Given the description of an element on the screen output the (x, y) to click on. 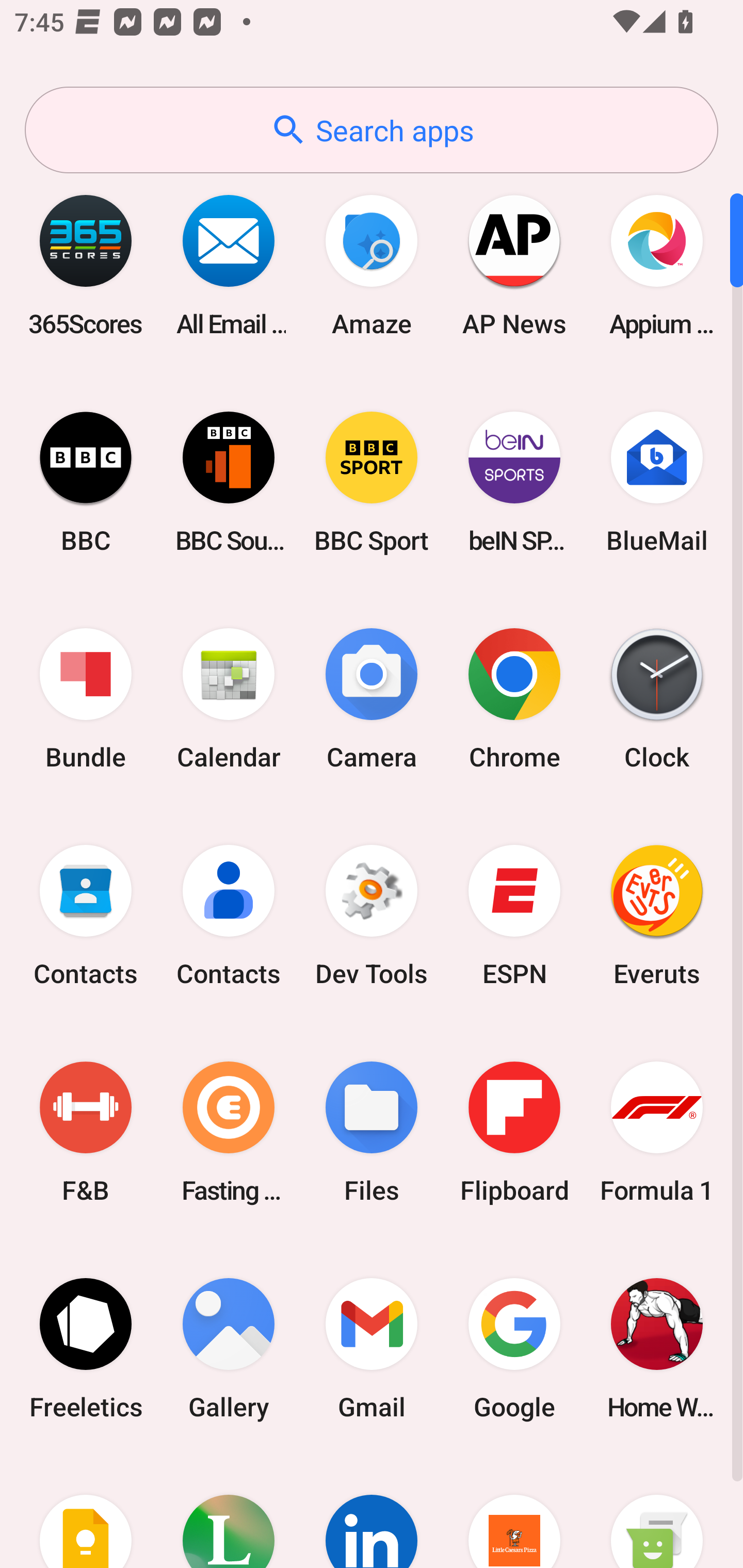
  Search apps (371, 130)
365Scores (85, 264)
All Email Connect (228, 264)
Amaze (371, 264)
AP News (514, 264)
Appium Settings (656, 264)
BBC (85, 482)
BBC Sounds (228, 482)
BBC Sport (371, 482)
beIN SPORTS (514, 482)
BlueMail (656, 482)
Bundle (85, 699)
Calendar (228, 699)
Camera (371, 699)
Chrome (514, 699)
Clock (656, 699)
Contacts (85, 915)
Contacts (228, 915)
Dev Tools (371, 915)
ESPN (514, 915)
Everuts (656, 915)
F&B (85, 1131)
Fasting Coach (228, 1131)
Files (371, 1131)
Flipboard (514, 1131)
Formula 1 (656, 1131)
Freeletics (85, 1348)
Gallery (228, 1348)
Gmail (371, 1348)
Google (514, 1348)
Home Workout (656, 1348)
